Given the description of an element on the screen output the (x, y) to click on. 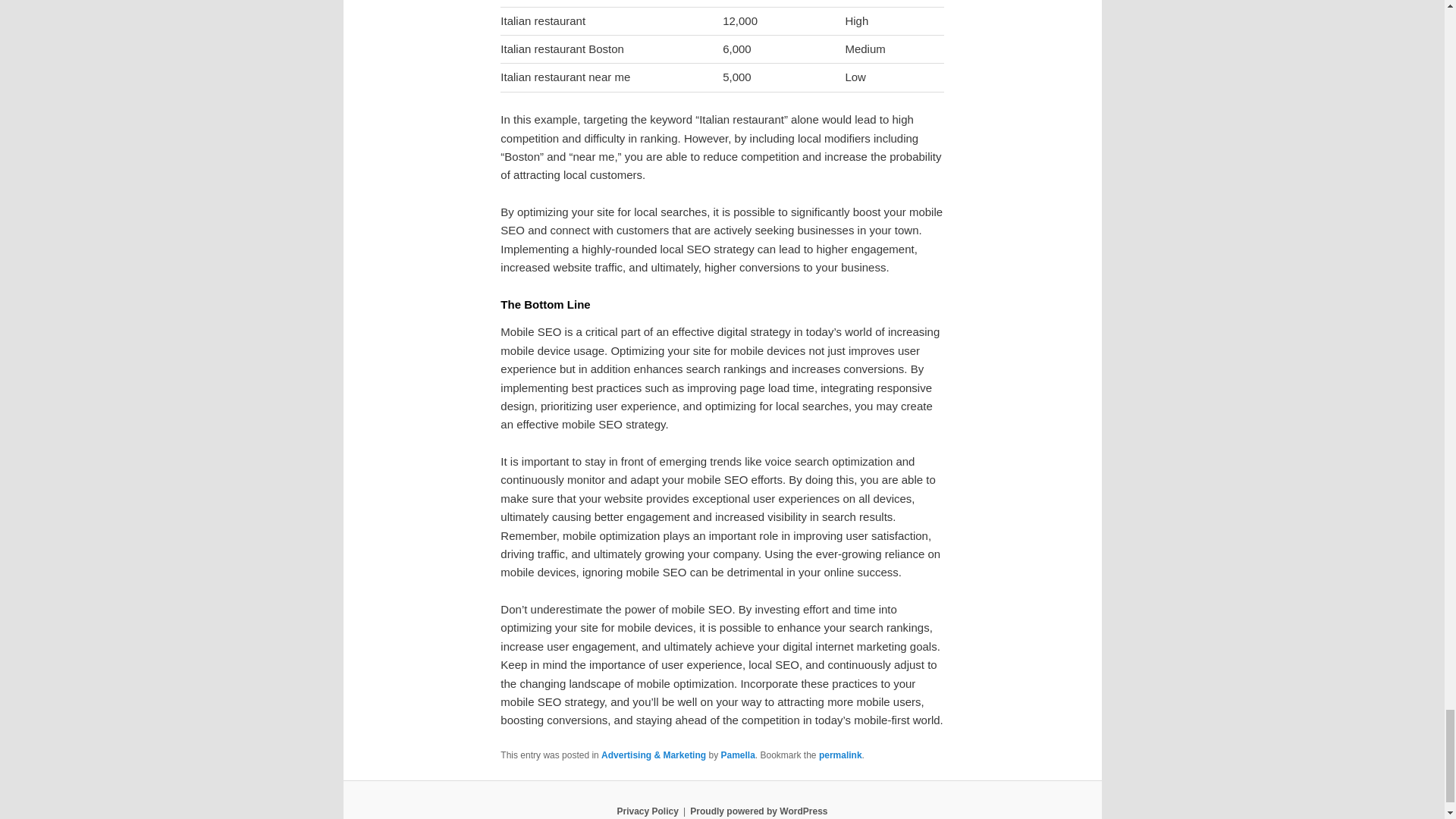
Semantic Personal Publishing Platform (758, 810)
Pamella (737, 755)
Permalink to Engaging Users through SEO (839, 755)
Proudly powered by WordPress (758, 810)
permalink (839, 755)
Privacy Policy (646, 810)
